Given the description of an element on the screen output the (x, y) to click on. 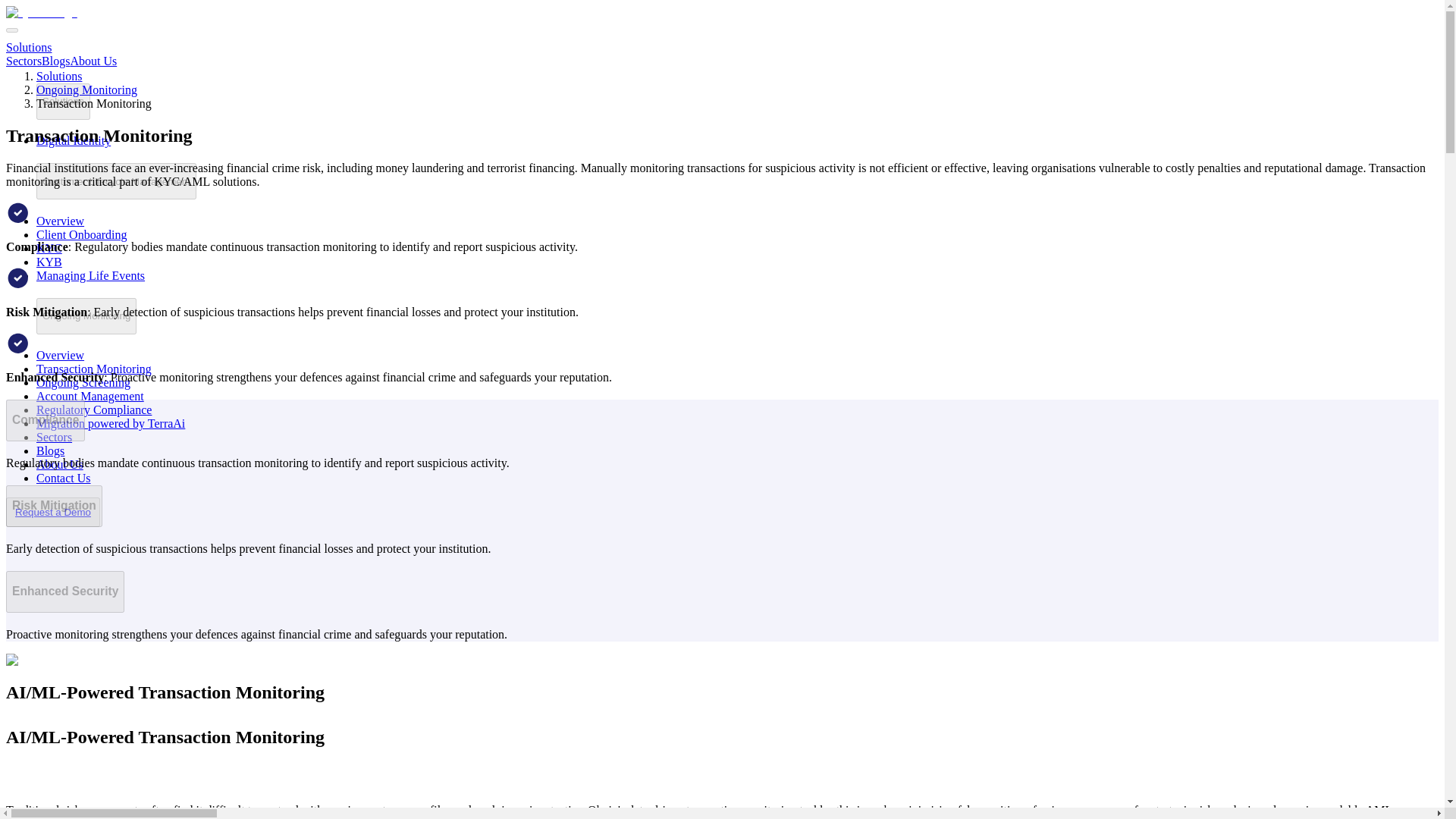
Sectors (23, 60)
Blogs (50, 450)
KYC (49, 247)
Solutions (63, 101)
Request a Demo (52, 511)
Digital Identity (73, 140)
Ongoing Screening (83, 382)
Account Management (90, 395)
Enhanced Security (64, 591)
Client Onboarding (82, 234)
Ongoing Monitoring (86, 316)
Overview (60, 354)
Blogs (55, 60)
Managing Life Events (90, 275)
Transaction Monitoring (93, 368)
